Given the description of an element on the screen output the (x, y) to click on. 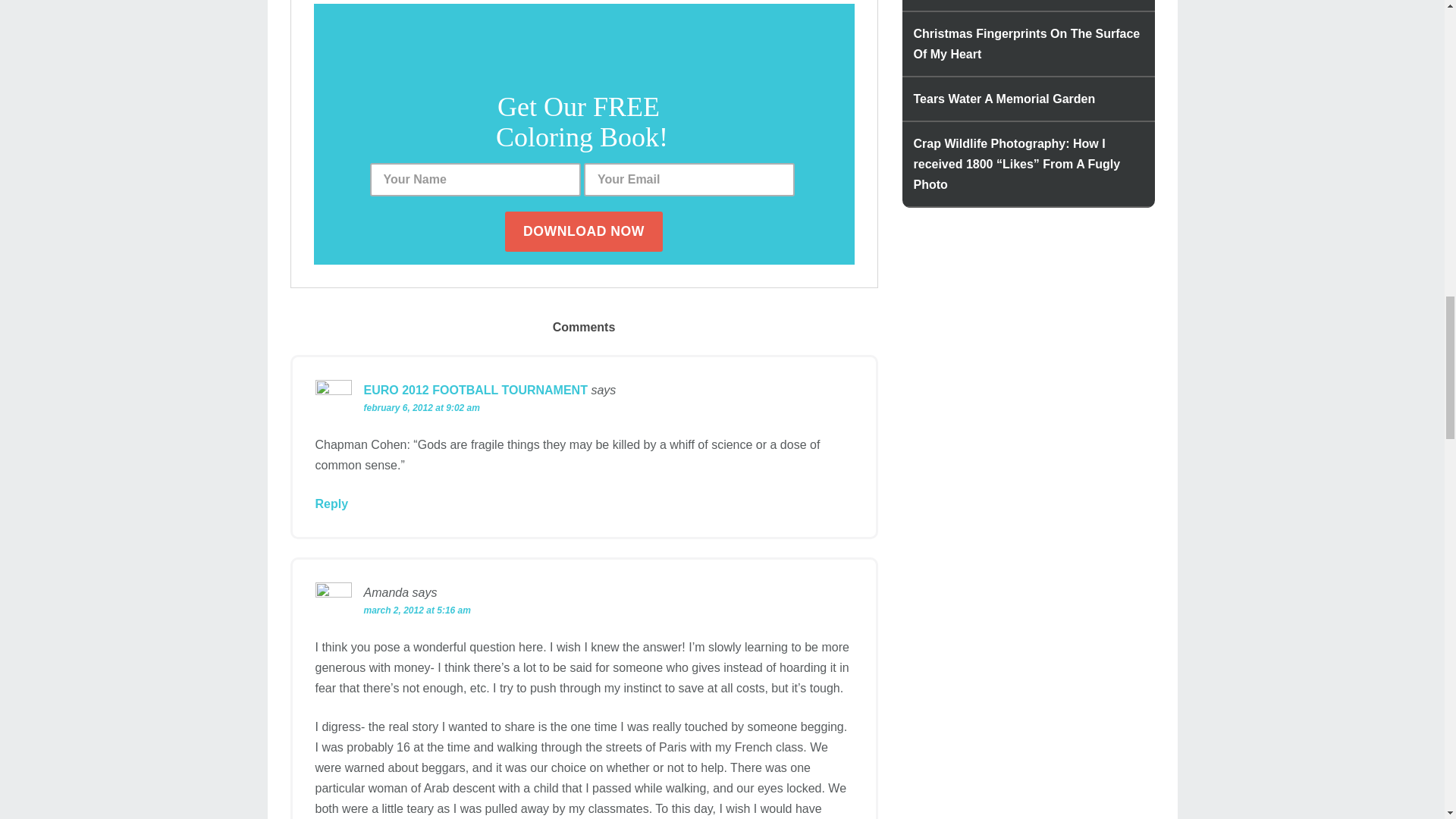
february 6, 2012 at 9:02 am (422, 407)
Download Now (583, 231)
Download Now (583, 231)
march 2, 2012 at 5:16 am (417, 610)
Reply (332, 503)
EURO 2012 FOOTBALL TOURNAMENT (476, 390)
